Given the description of an element on the screen output the (x, y) to click on. 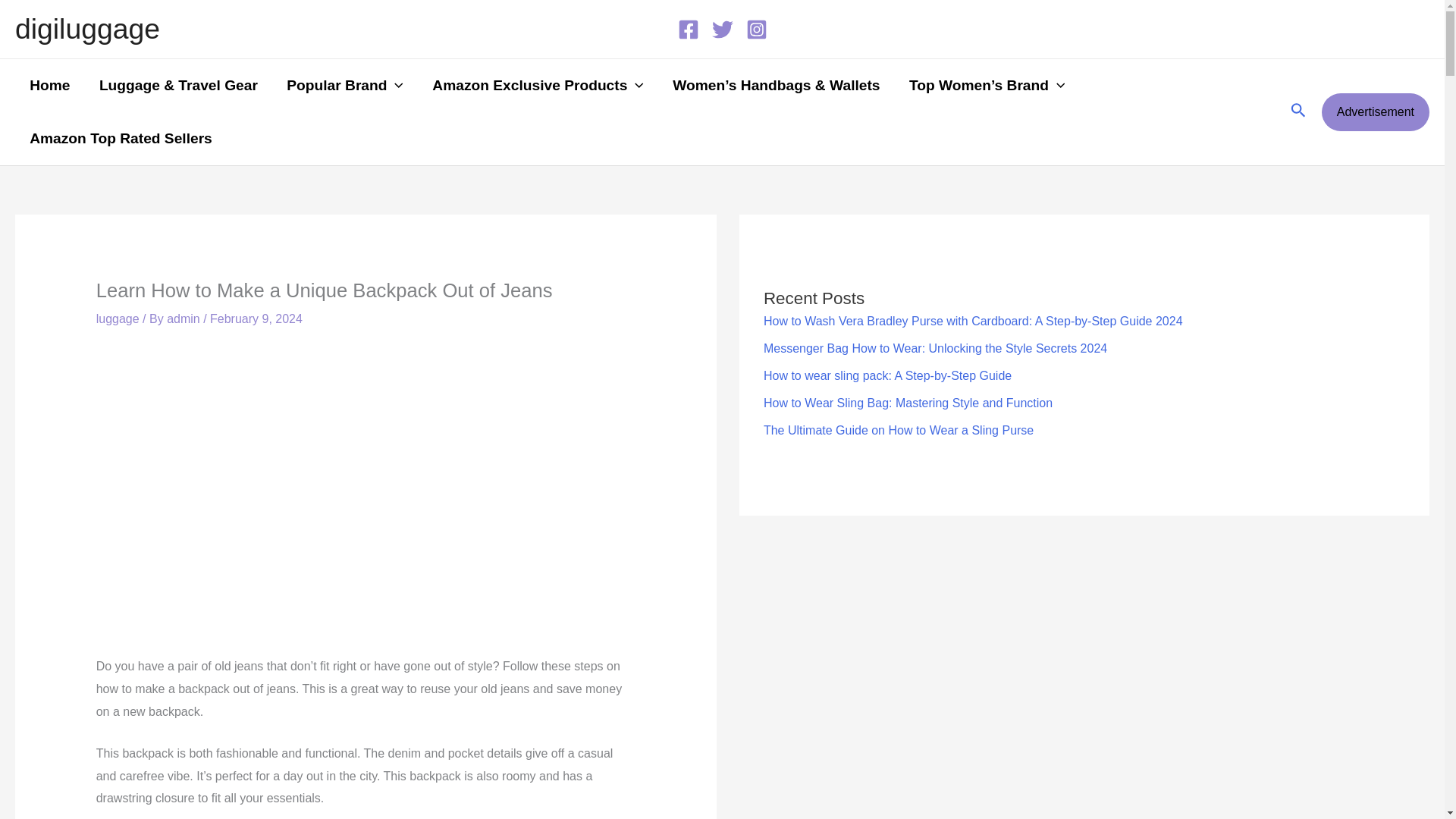
digiluggage (87, 29)
Amazon Exclusive Products (537, 85)
Popular Brand (344, 85)
Amazon Top Rated Sellers (120, 138)
Home (49, 85)
View all posts by admin (185, 318)
